Given the description of an element on the screen output the (x, y) to click on. 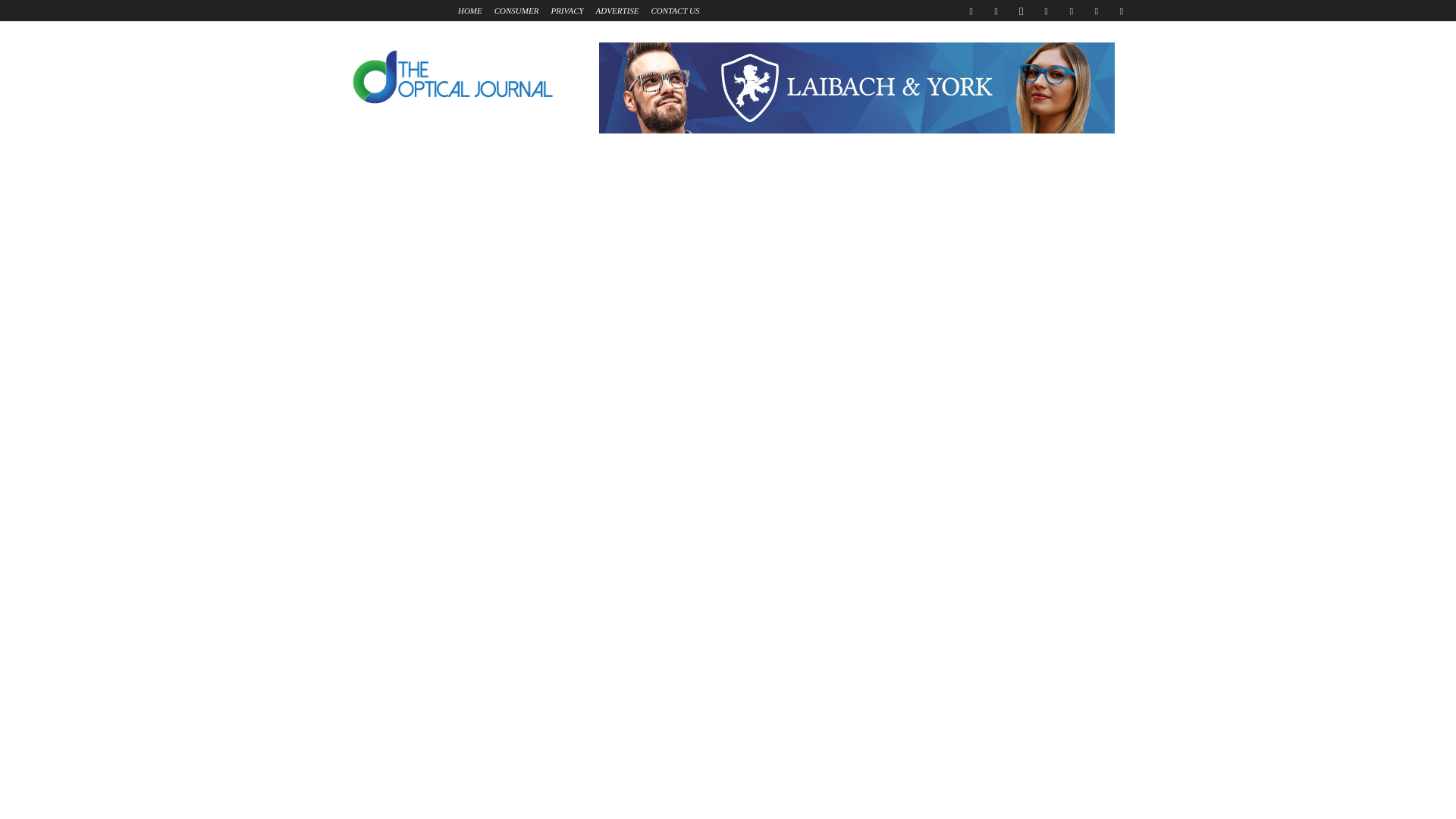
Flipboard (996, 10)
Facebook (970, 10)
Instagram (1021, 10)
Twitter (1096, 10)
Linkedin (1046, 10)
Pinterest (1071, 10)
